Given the description of an element on the screen output the (x, y) to click on. 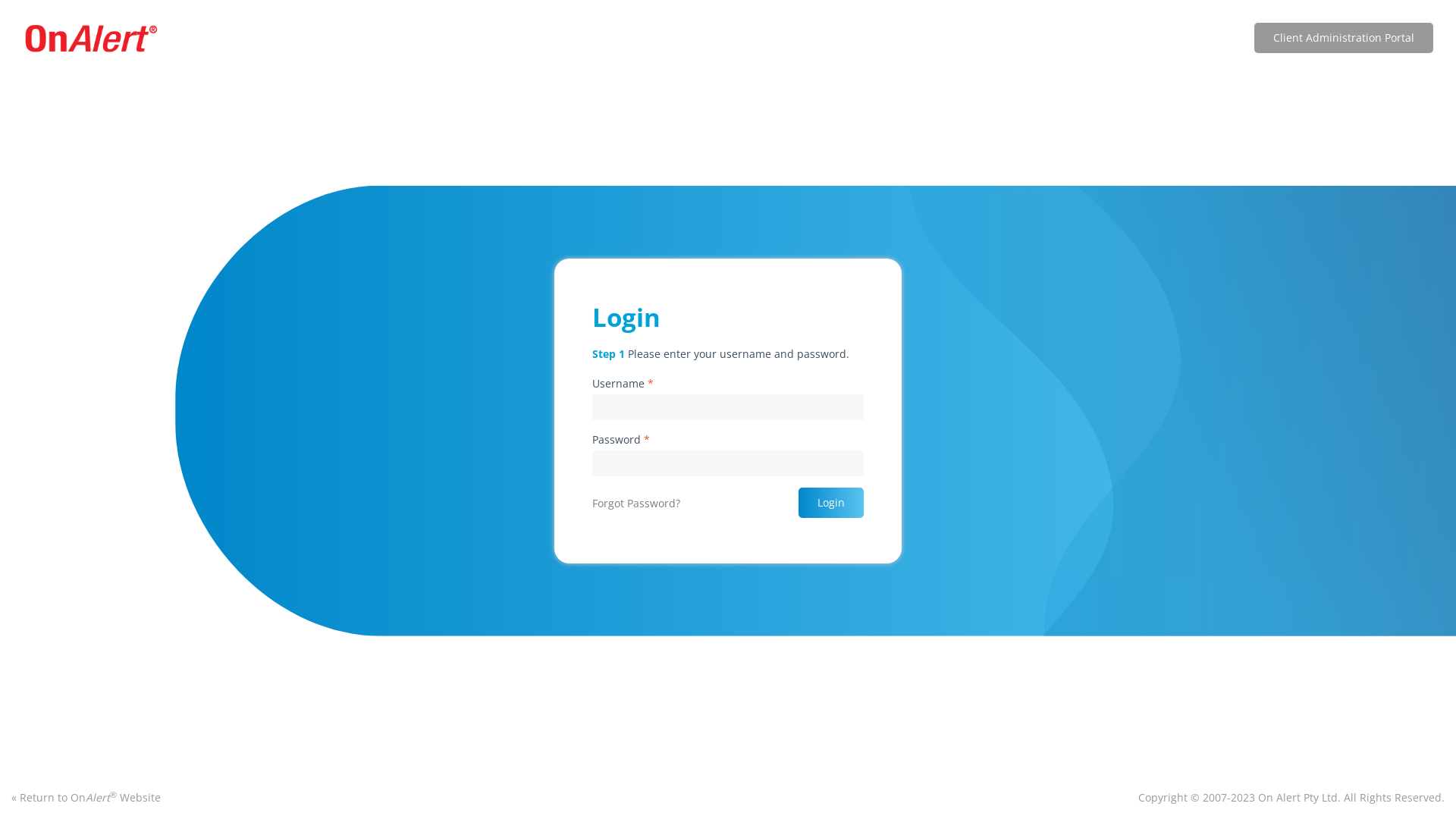
Forgot Password? Element type: text (636, 502)
Login Element type: text (830, 502)
Client Administration Portal Element type: text (1343, 37)
